Given the description of an element on the screen output the (x, y) to click on. 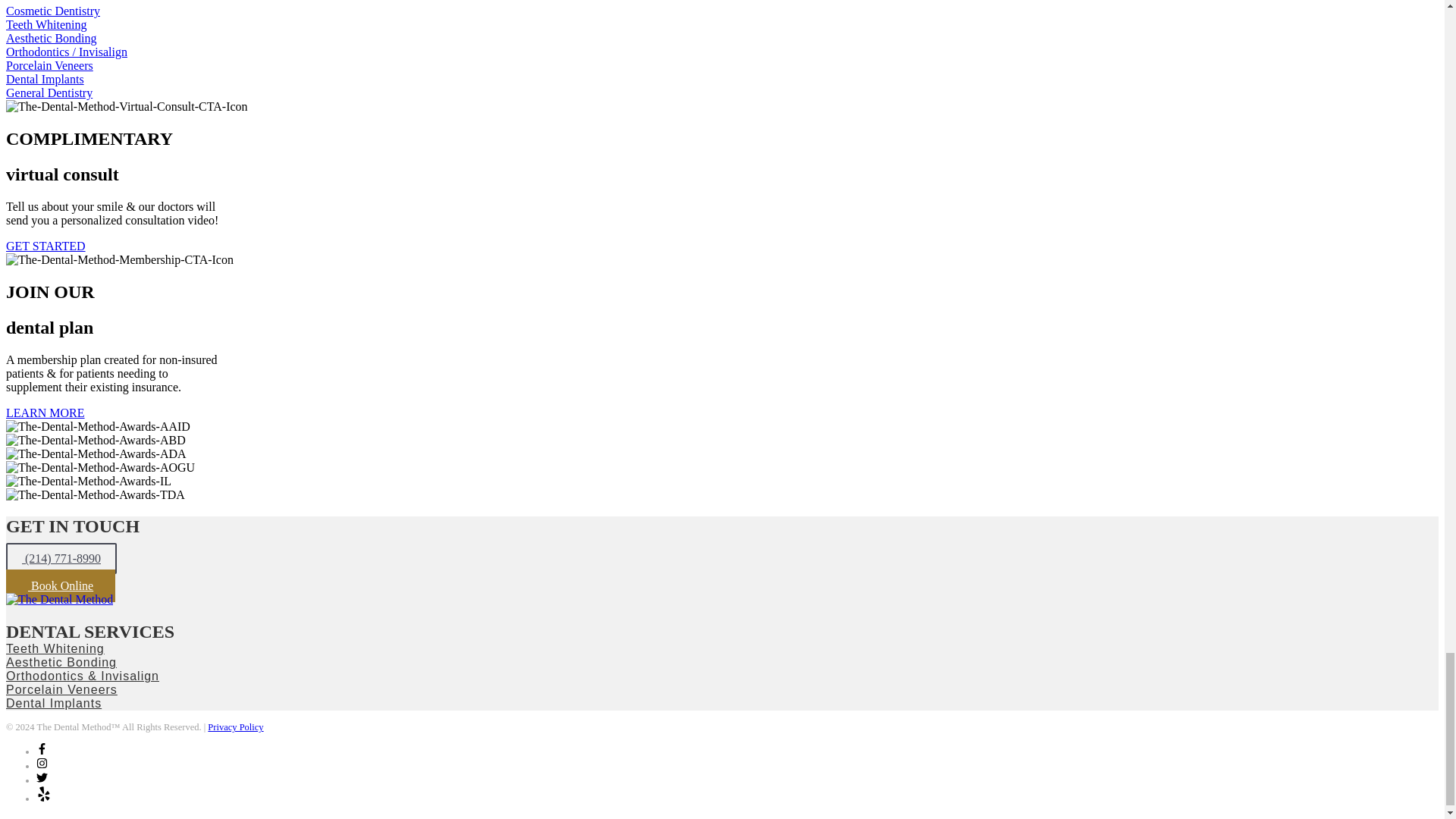
The-Dental-Method-Membership-CTA-Icon (118, 259)
The-Dental-Method-Awards-TDA (94, 494)
The-Dental-Method-Awards-ABD (95, 439)
The-Dental-Method-Awards-IL (88, 480)
The-Dental-Method-Awards-AOGU (100, 467)
The-Dental-Method-Awards-AAID (97, 426)
The-Dental-Method-Virtual-Consult-CTA-Icon (126, 106)
The-Dental-Method-Awards-ADA (95, 453)
